Given the description of an element on the screen output the (x, y) to click on. 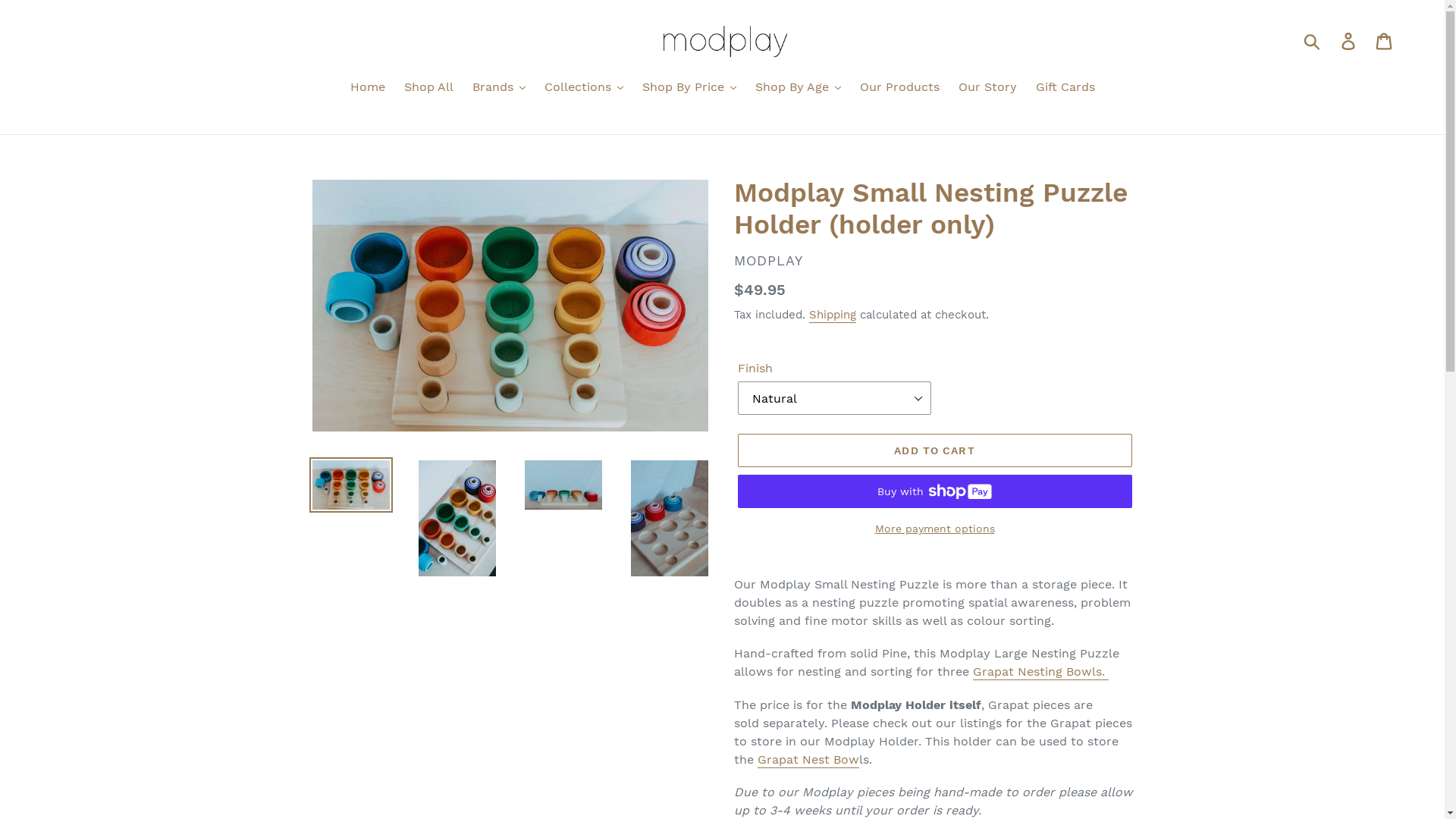
More payment options Element type: text (934, 528)
ADD TO CART Element type: text (934, 450)
Grapat Nest Bow Element type: text (807, 760)
Shop All Element type: text (427, 88)
Our Products Element type: text (899, 88)
Home Element type: text (367, 88)
Cart Element type: text (1384, 41)
Grapat Nesting Bowls.  Element type: text (1039, 672)
Submit Element type: text (1312, 40)
Shipping Element type: text (831, 314)
Gift Cards Element type: text (1065, 88)
Our Story Element type: text (987, 88)
Log in Element type: text (1349, 41)
